Given the description of an element on the screen output the (x, y) to click on. 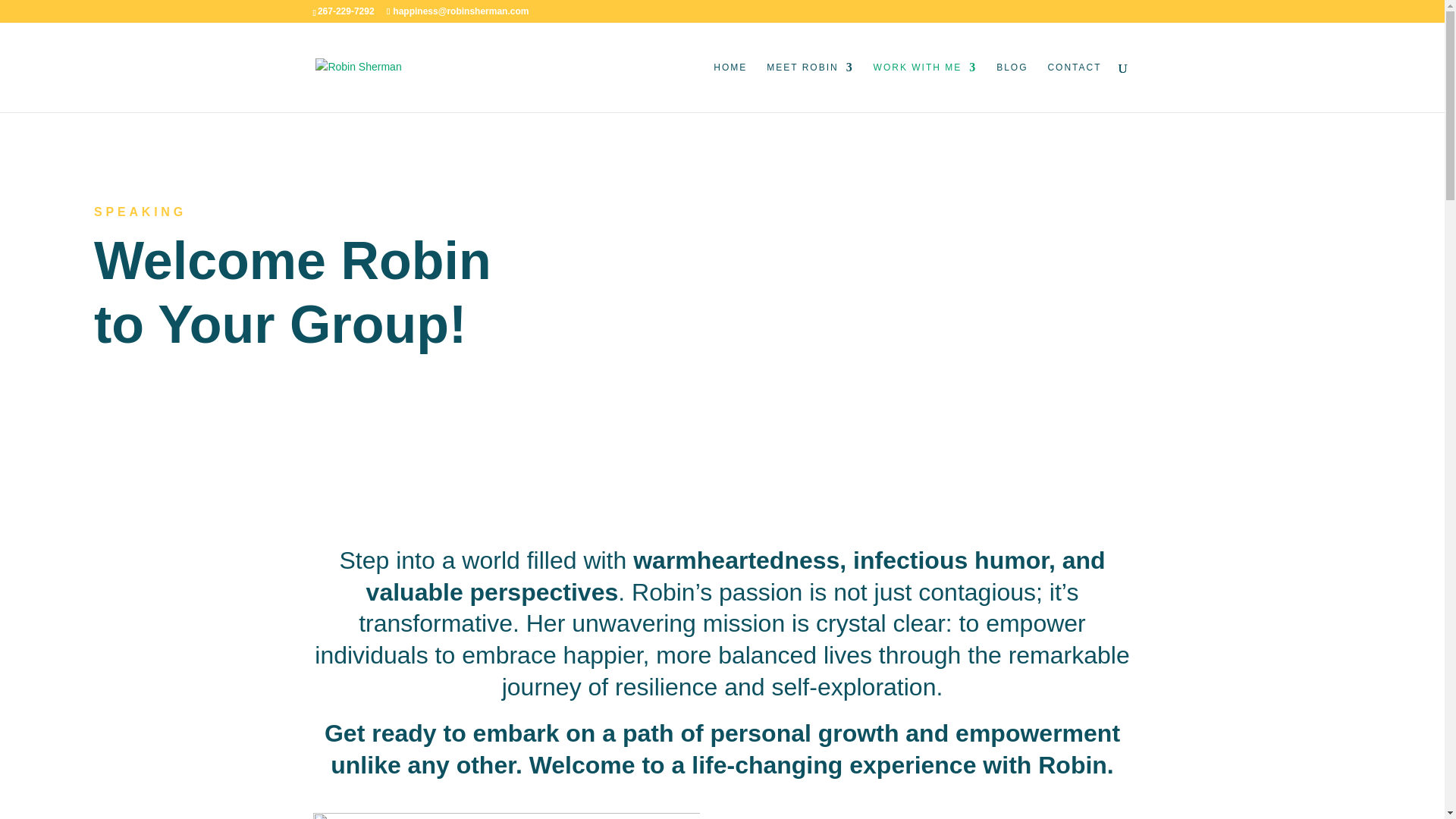
CONTACT (1073, 87)
RobinMirror (505, 816)
WORK WITH ME (924, 87)
MEET ROBIN (810, 87)
